Given the description of an element on the screen output the (x, y) to click on. 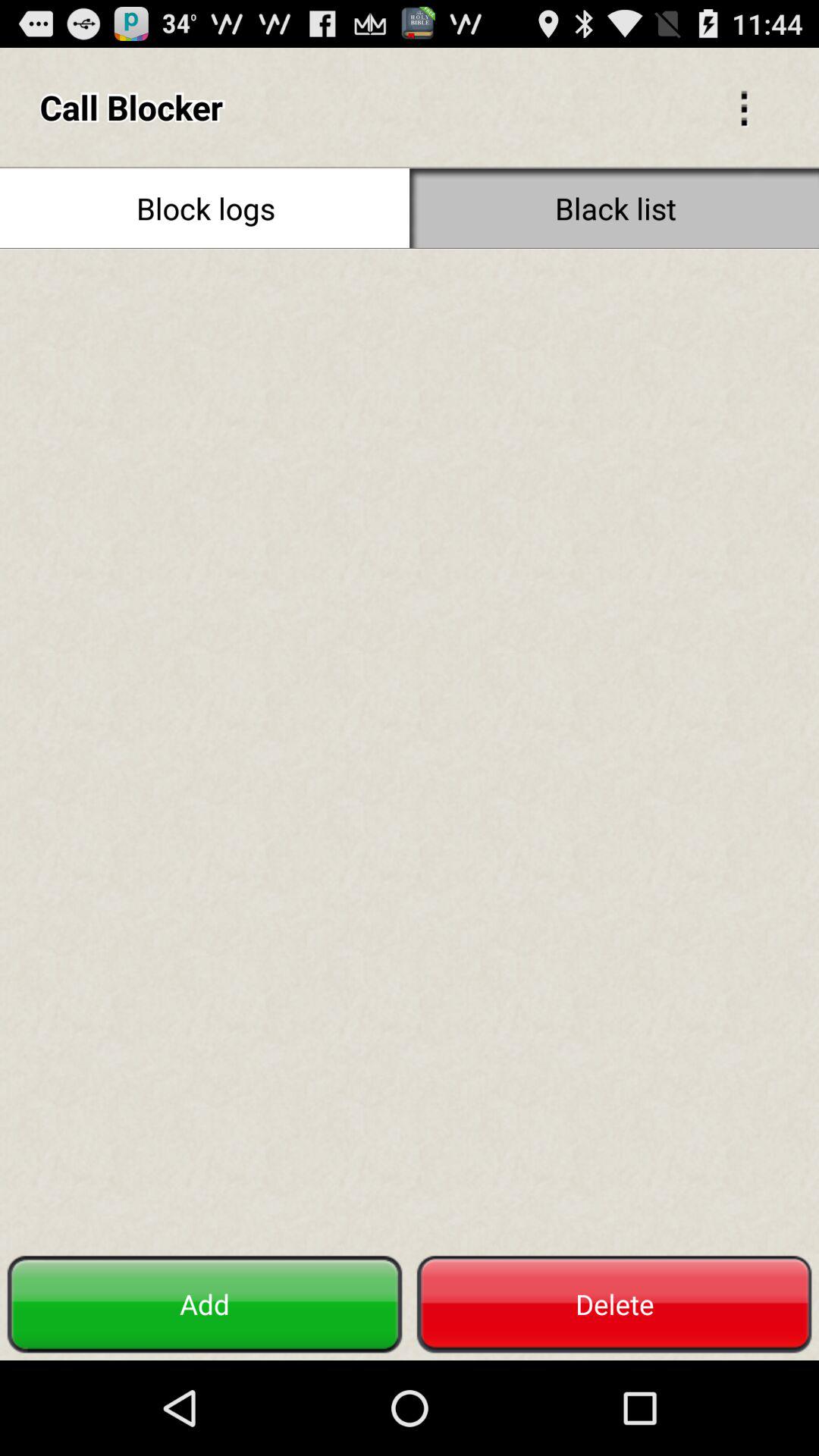
tap the item at the bottom left corner (204, 1304)
